Given the description of an element on the screen output the (x, y) to click on. 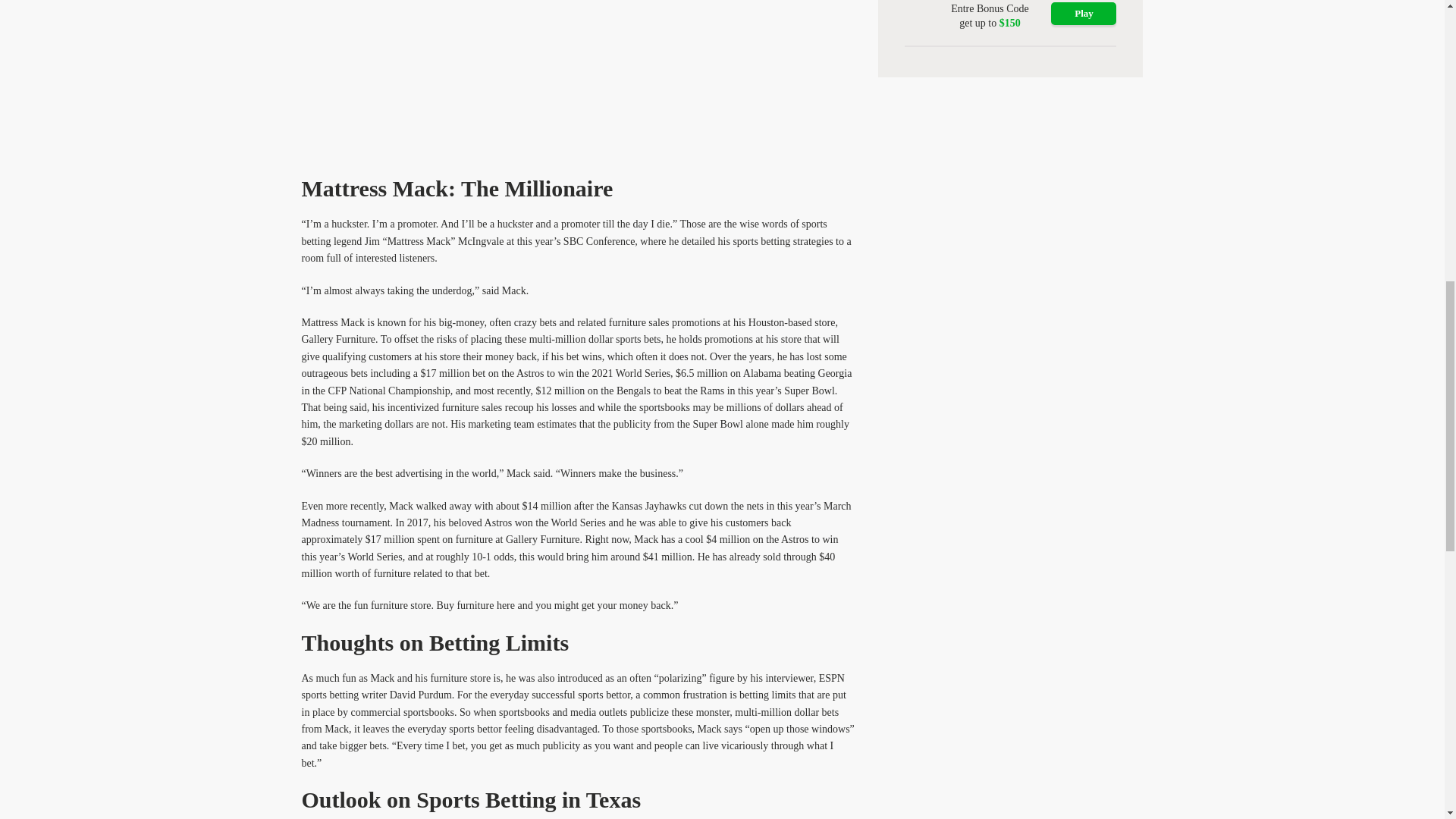
Play (1083, 13)
